Given the description of an element on the screen output the (x, y) to click on. 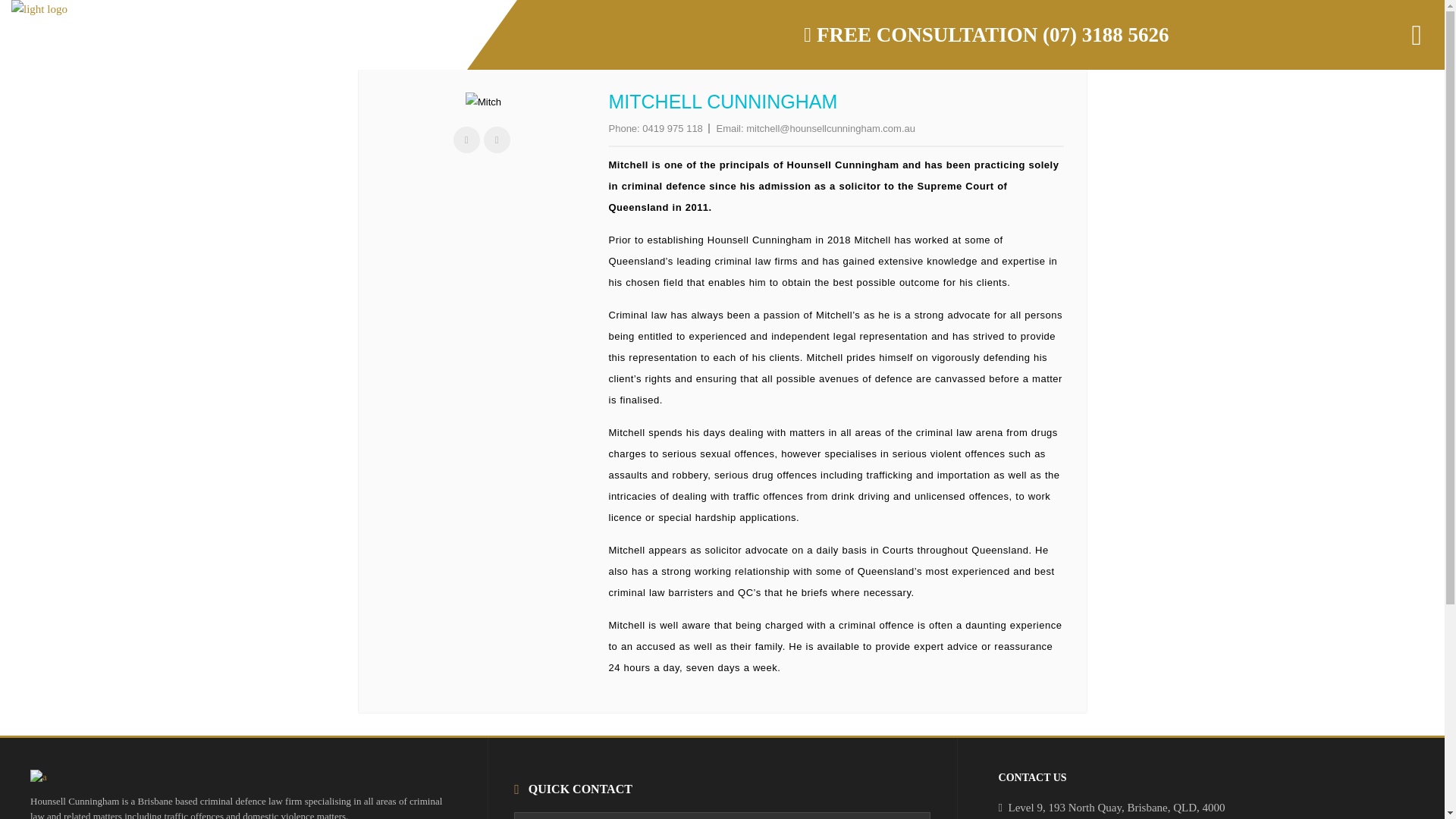
0419 975 118 (672, 128)
